Given the description of an element on the screen output the (x, y) to click on. 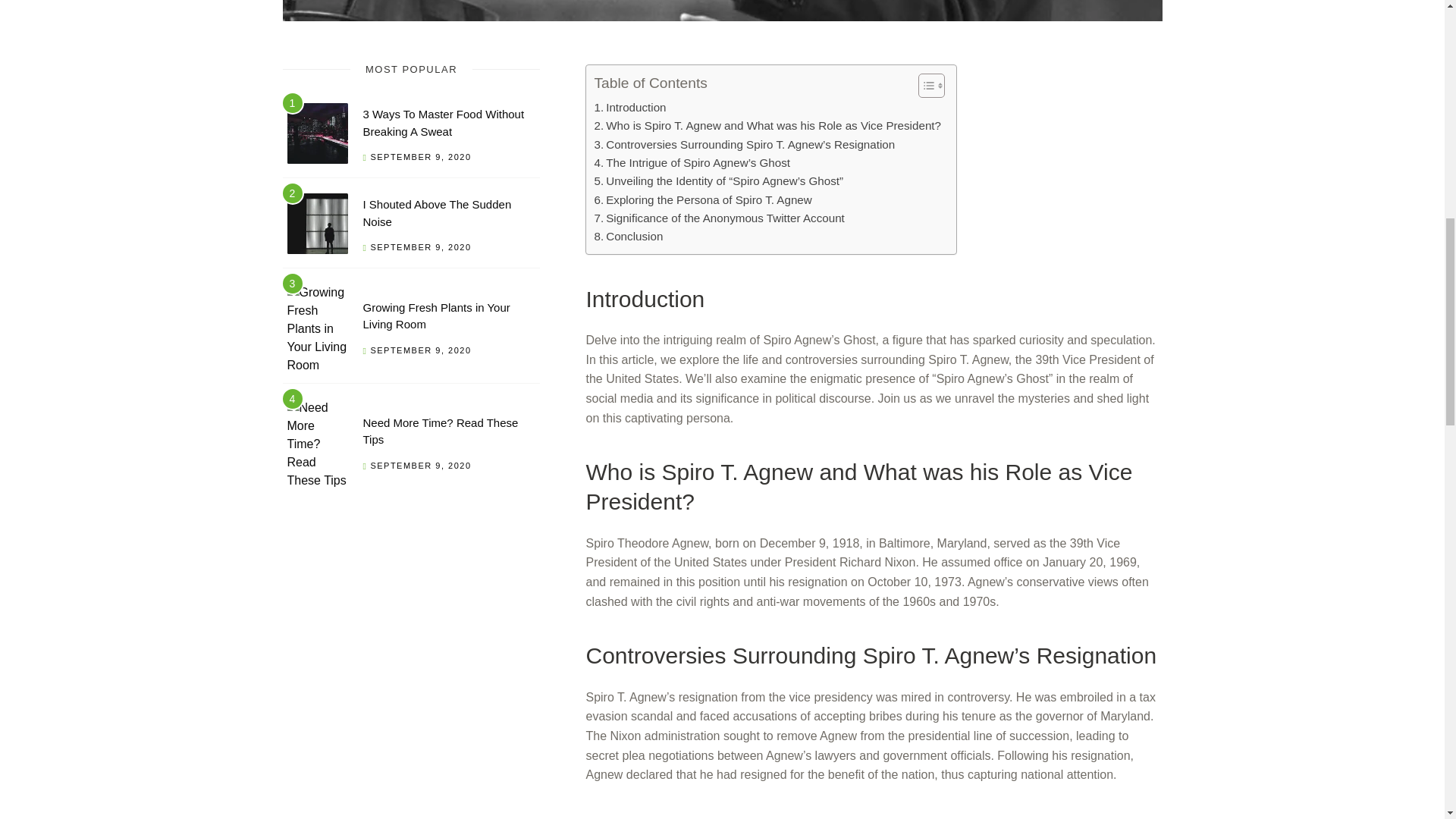
Permalink to I Shouted Above The Sudden Noise (436, 213)
Permalink to Growing Fresh Plants in Your Living Room (435, 316)
SEPTEMBER 9, 2020 (419, 246)
Exploring the Persona of Spiro T. Agnew (702, 199)
Introduction (629, 107)
Growing Fresh Plants in Your Living Room (435, 316)
SEPTEMBER 9, 2020 (419, 156)
Need More Time? Read These Tips (440, 431)
Permalink to 3 Ways To Master Food Without Breaking A Sweat (443, 122)
